Given the description of an element on the screen output the (x, y) to click on. 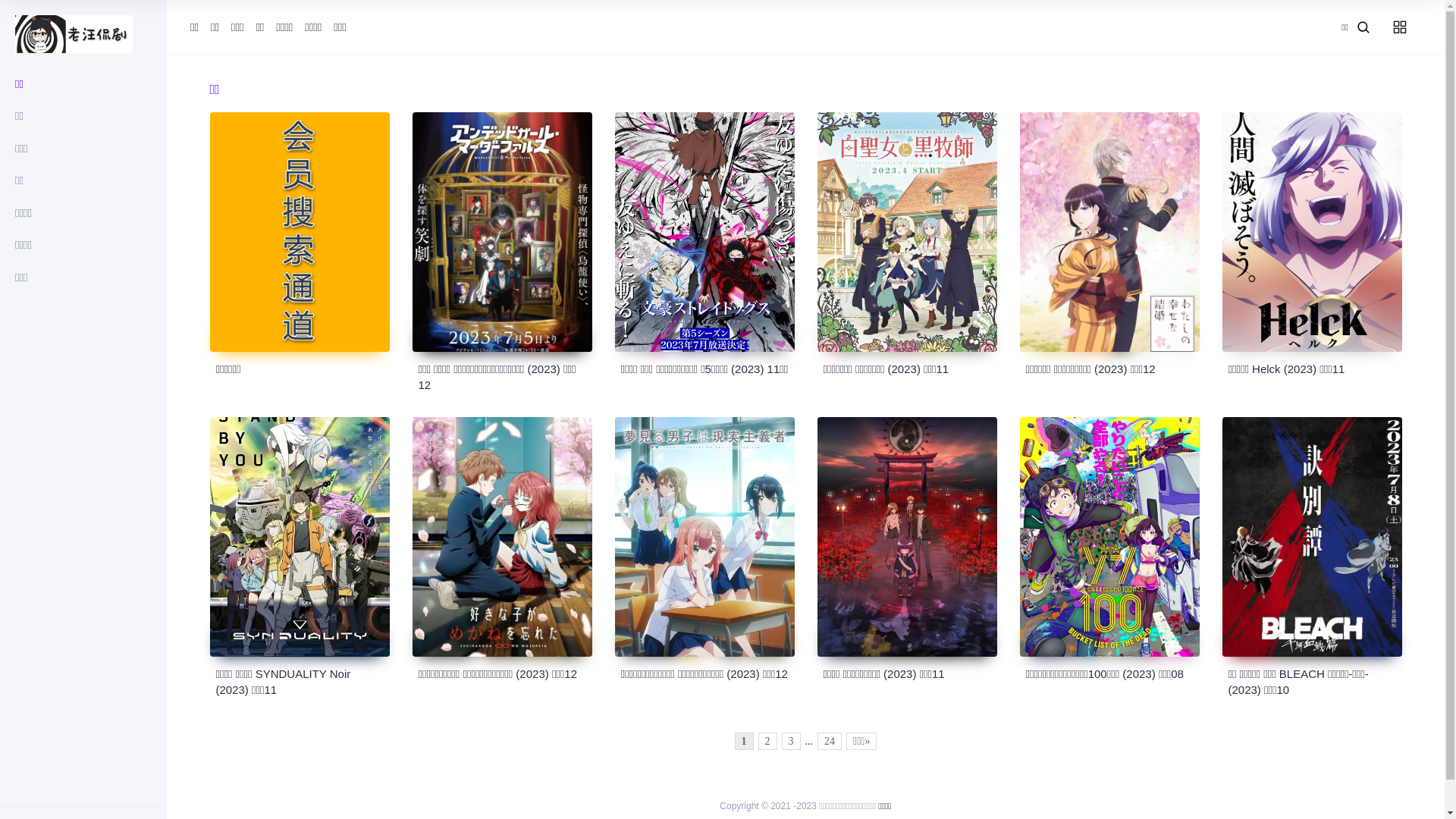
3 Element type: text (790, 740)
24 Element type: text (829, 740)
2 Element type: text (767, 740)
